Given the description of an element on the screen output the (x, y) to click on. 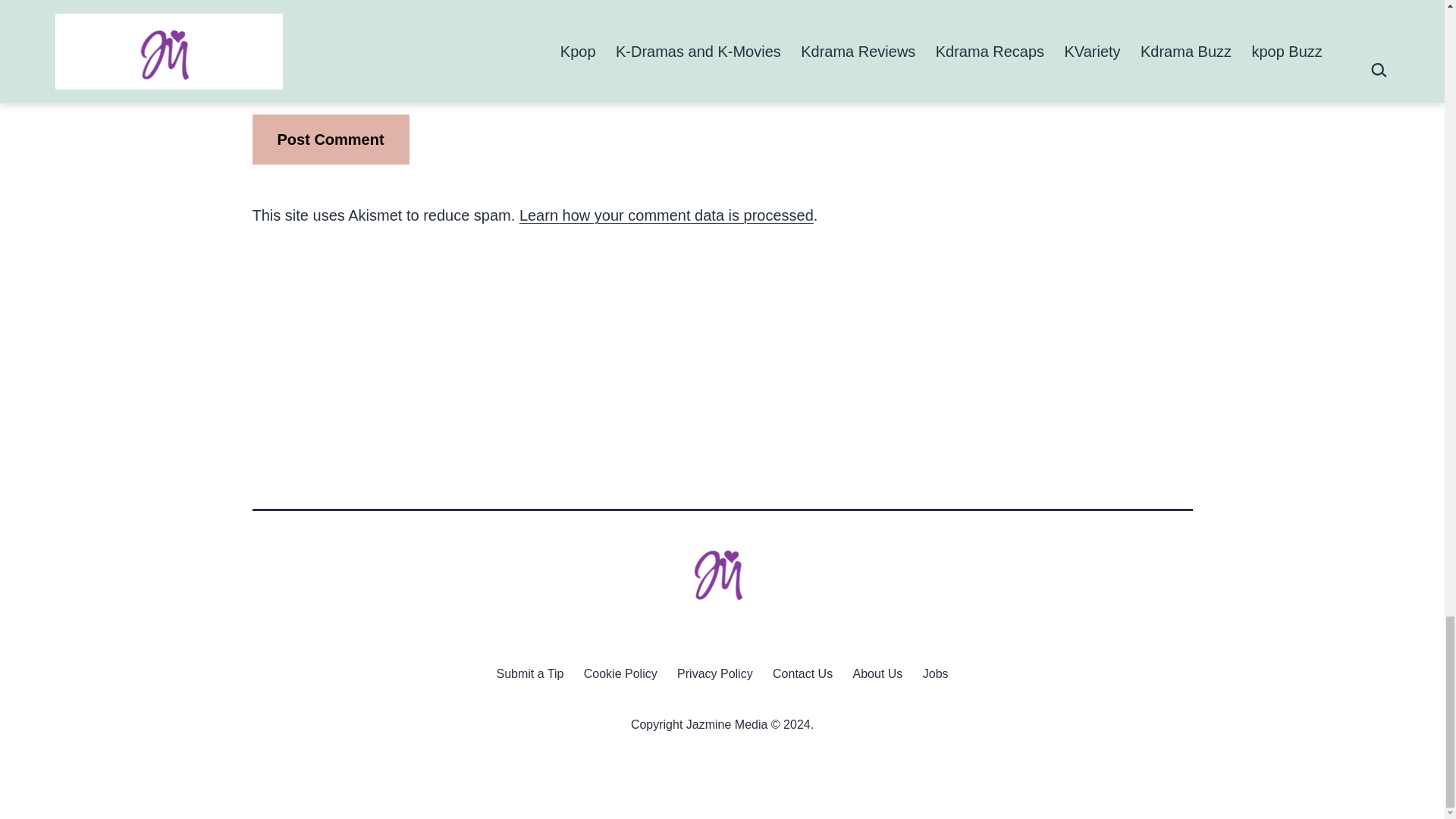
Learn how your comment data is processed (666, 215)
Post Comment (330, 139)
Post Comment (330, 139)
